Given the description of an element on the screen output the (x, y) to click on. 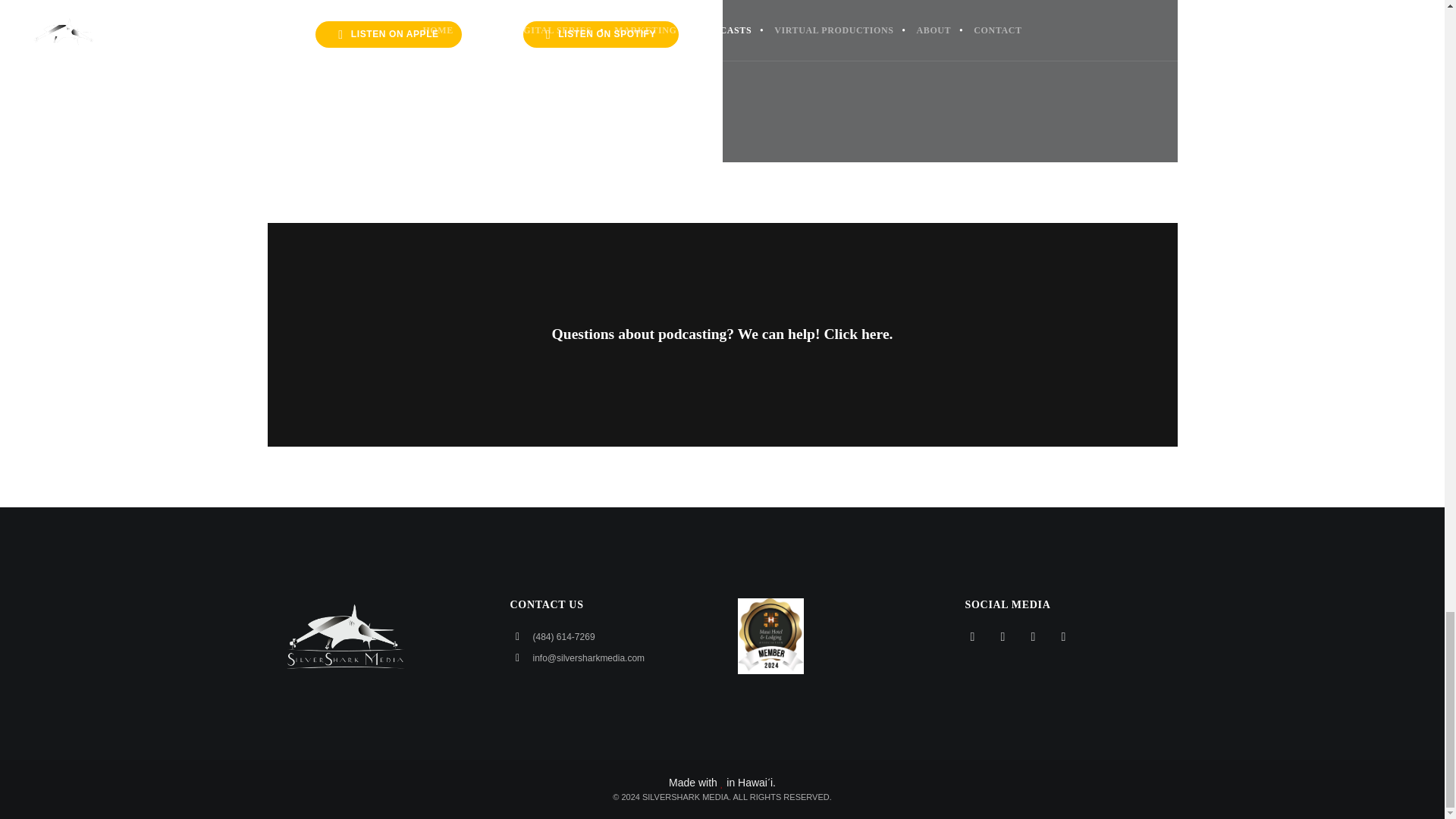
Contact (722, 334)
LISTEN ON SPOTIFY (600, 34)
LISTEN ON APPLE (388, 34)
Questions about podcasting? We can help! Click here. (722, 334)
